Given the description of an element on the screen output the (x, y) to click on. 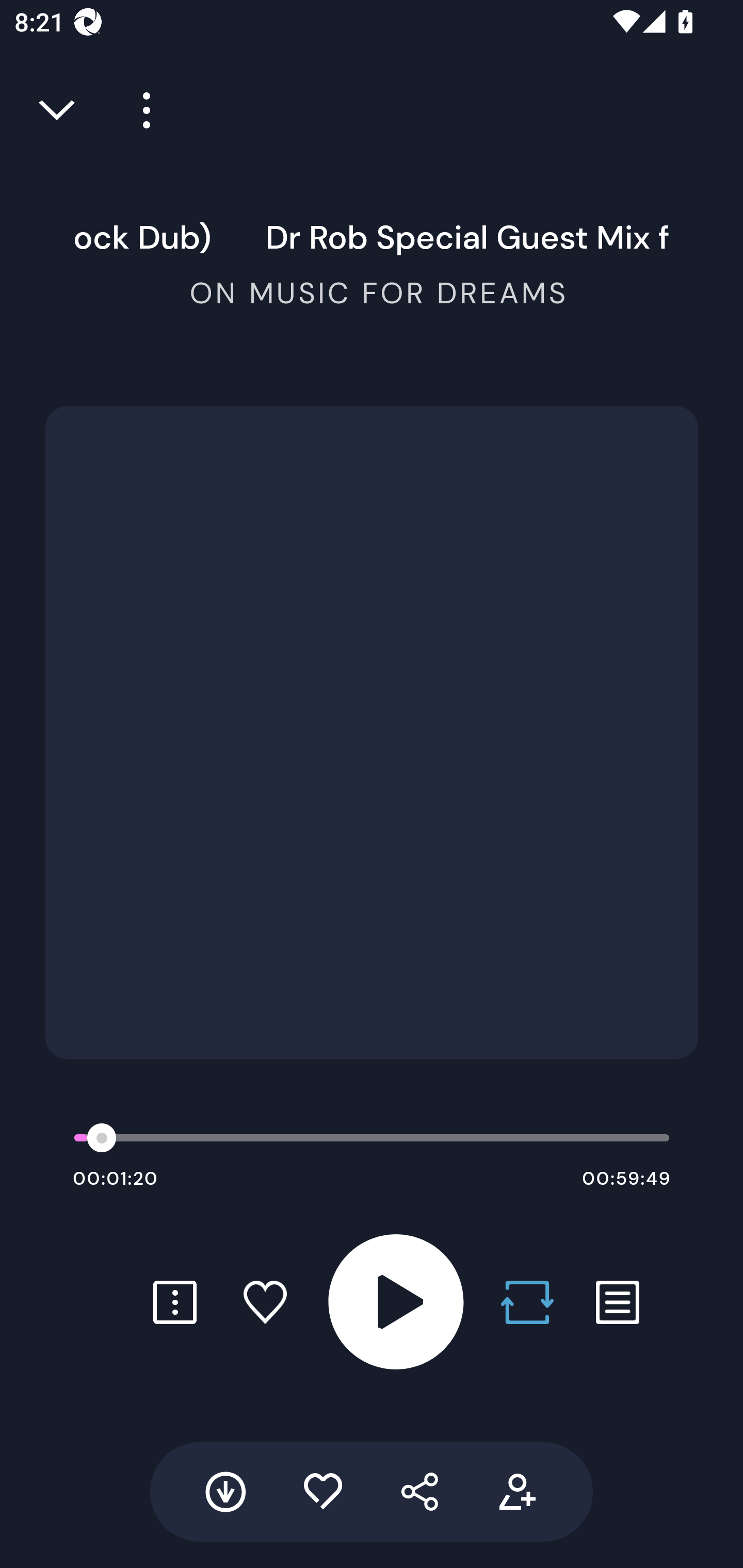
Close full player (58, 110)
Player more options button (139, 110)
Repost button (527, 1301)
